Given the description of an element on the screen output the (x, y) to click on. 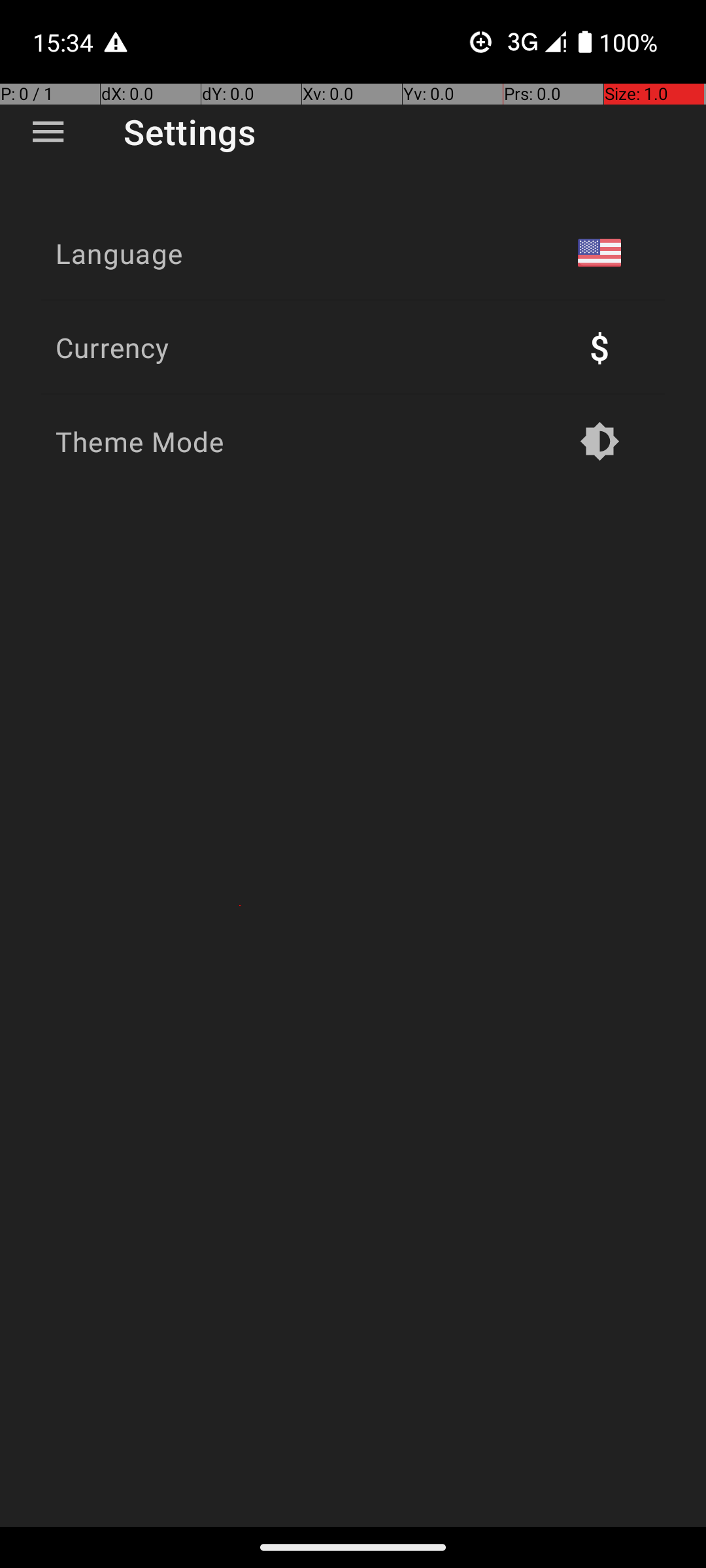
Language Element type: android.widget.TextView (118, 252)
Currency Element type: android.widget.TextView (111, 346)
$ Element type: android.widget.TextView (599, 347)
Theme Mode Element type: android.widget.TextView (139, 440)
